Given the description of an element on the screen output the (x, y) to click on. 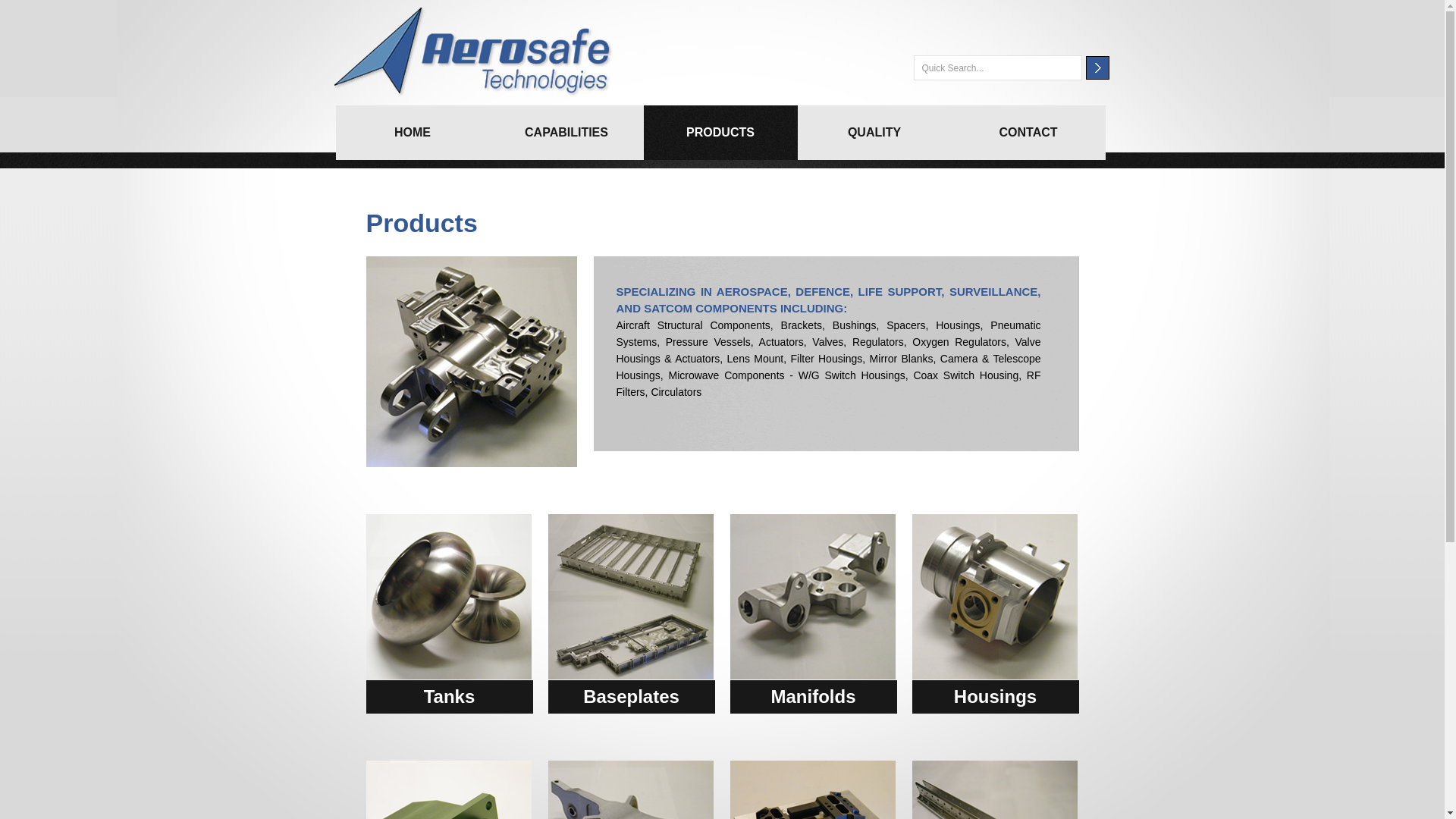
Housings Element type: text (994, 696)
PRODUCTS Element type: text (720, 132)
QUALITY Element type: text (874, 132)
CONTACT Element type: text (1027, 132)
HOME Element type: text (412, 132)
Baseplates Element type: text (630, 696)
Tanks Element type: text (448, 696)
Manifolds Element type: text (812, 696)
CAPABILITIES Element type: text (566, 132)
